Given the description of an element on the screen output the (x, y) to click on. 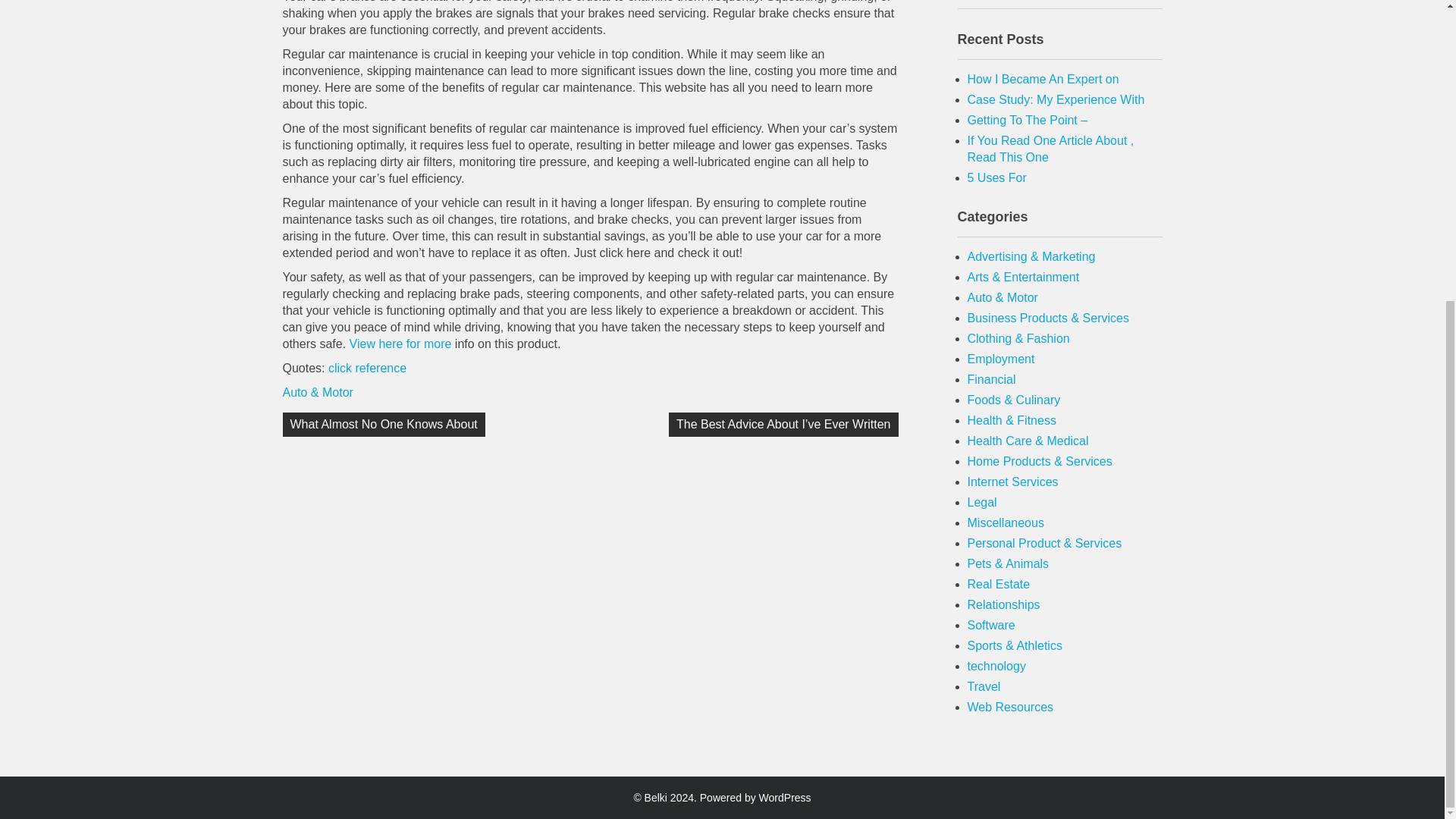
5 Uses For (997, 177)
What Almost No One Knows About (383, 424)
If You Read One Article About , Read This One (1051, 148)
click reference (367, 367)
View here for more (400, 343)
Financial (992, 379)
Case Study: My Experience With (1056, 99)
How I Became An Expert on (1043, 78)
Employment (1001, 358)
Internet Services (1013, 481)
